Given the description of an element on the screen output the (x, y) to click on. 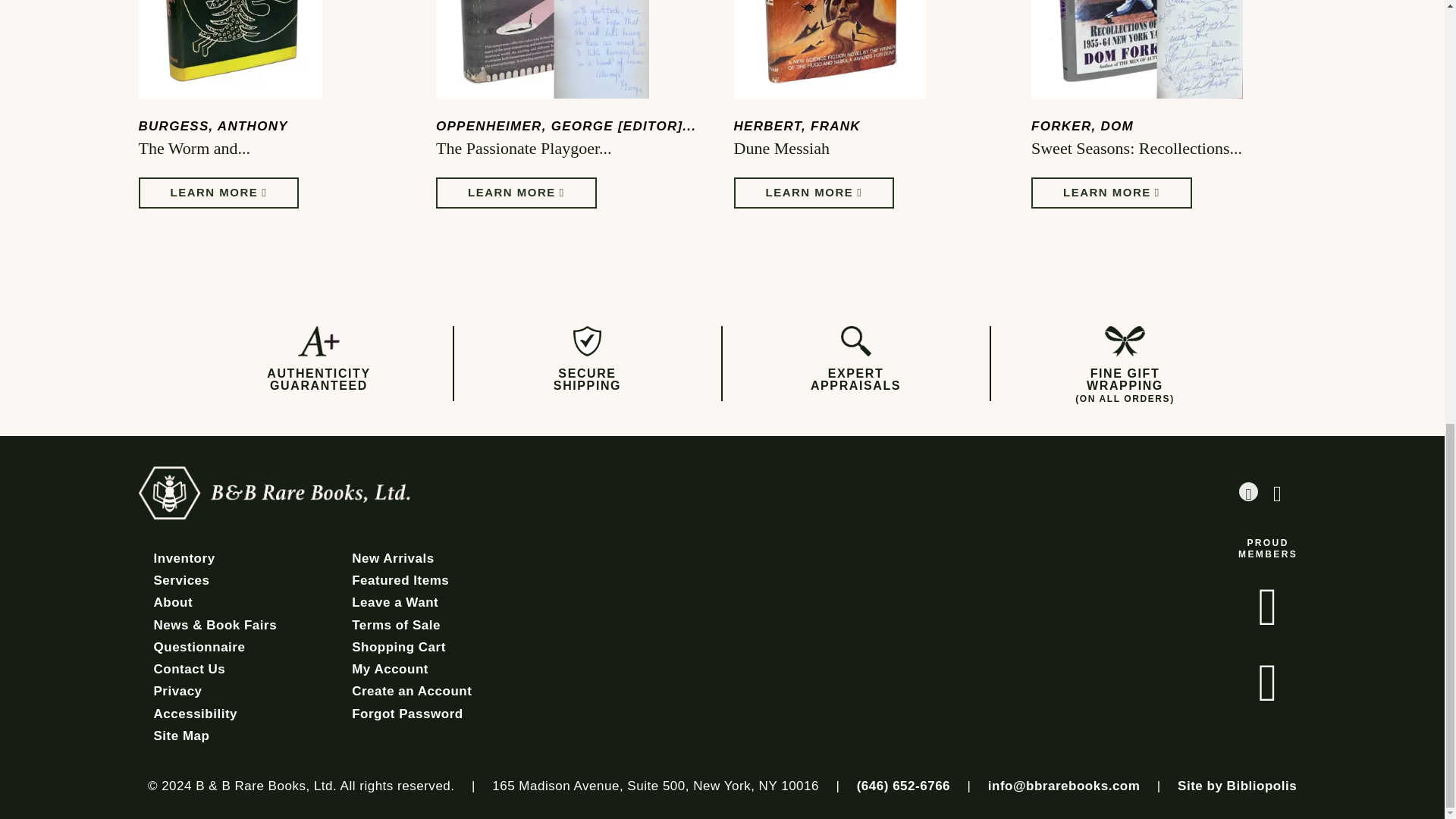
Site by Bibliopolis (1237, 785)
